Given the description of an element on the screen output the (x, y) to click on. 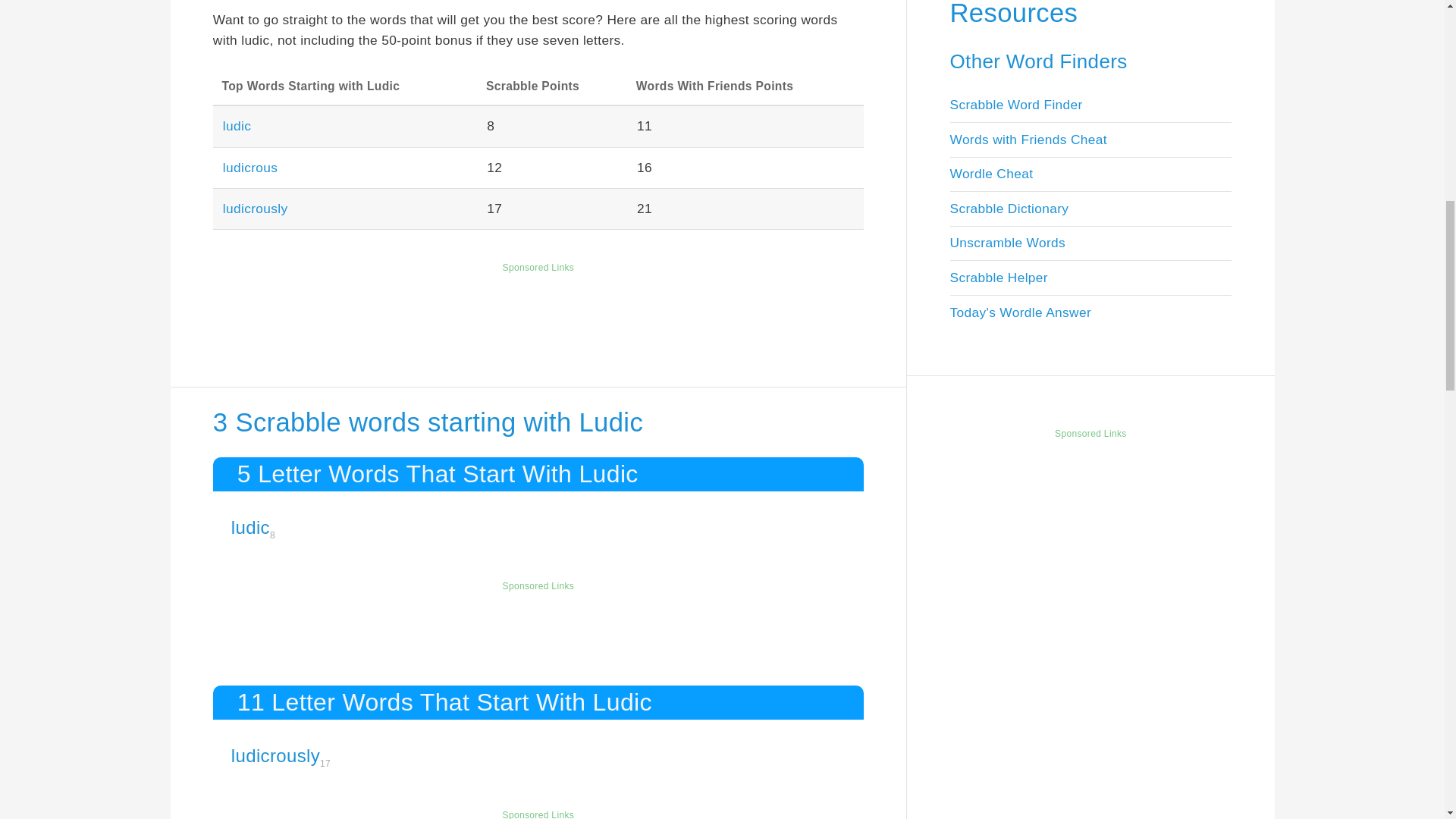
ludicrous (250, 167)
ludic (236, 125)
X (1434, 757)
ludicrously (255, 208)
